Given the description of an element on the screen output the (x, y) to click on. 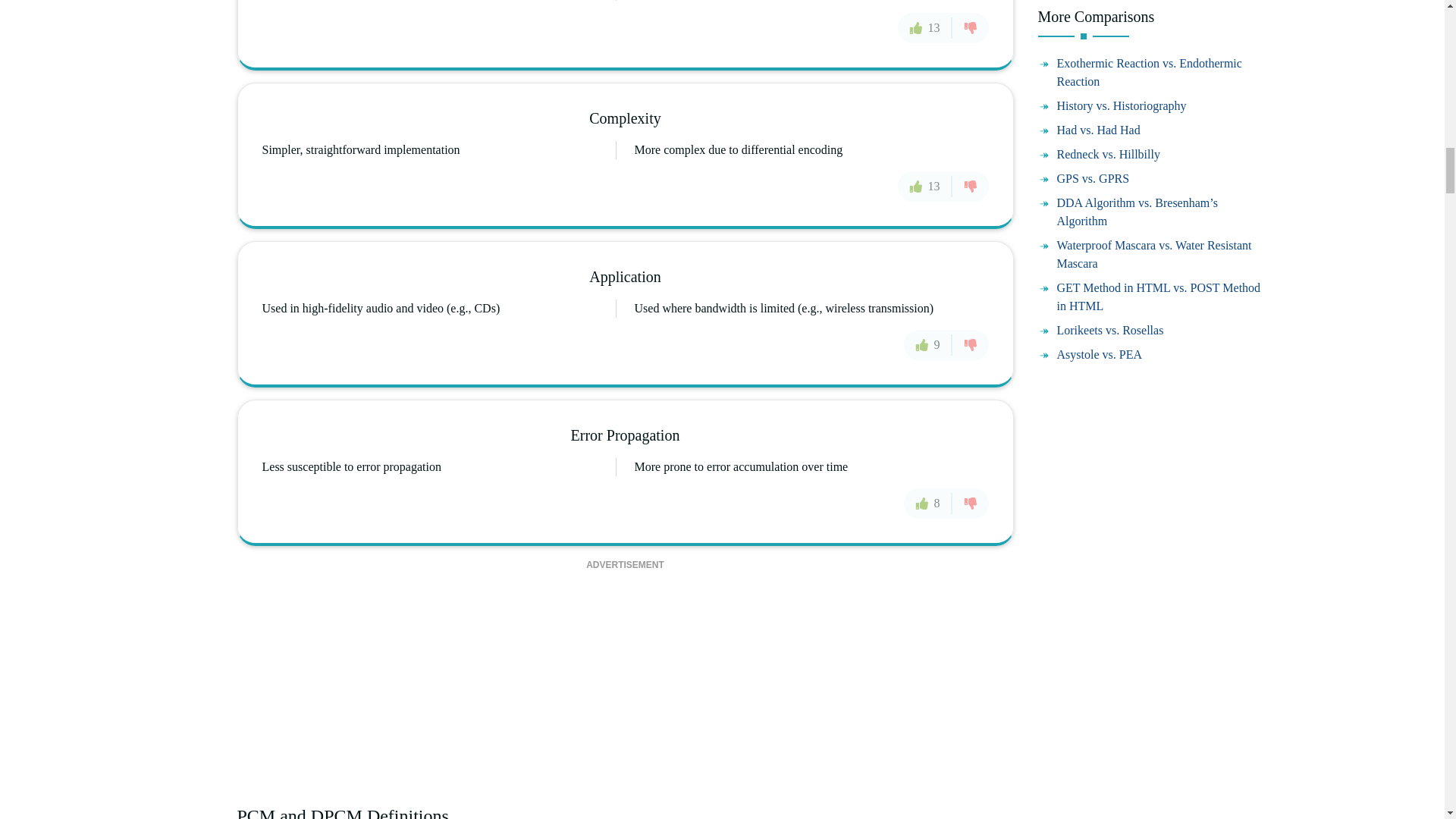
9 (928, 345)
8 (928, 503)
13 (925, 186)
13 (925, 28)
